Given the description of an element on the screen output the (x, y) to click on. 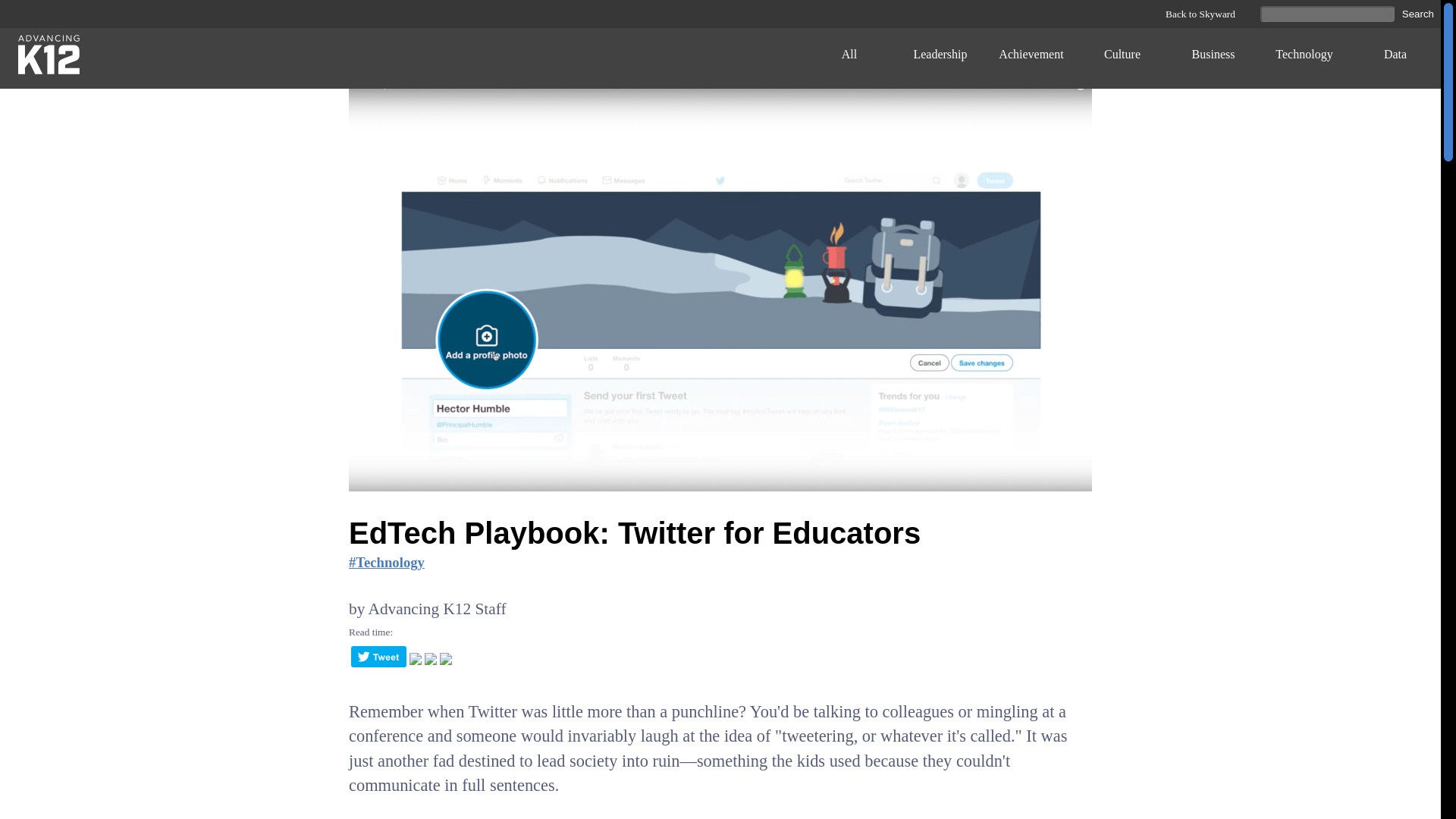
Twitter (378, 662)
Back to Skyward (1192, 14)
All (849, 57)
Business (1213, 57)
Search (1417, 14)
Achievement (1031, 57)
All (849, 57)
Return to Blog (44, 57)
Culture (1122, 57)
Technology (1304, 57)
